Given the description of an element on the screen output the (x, y) to click on. 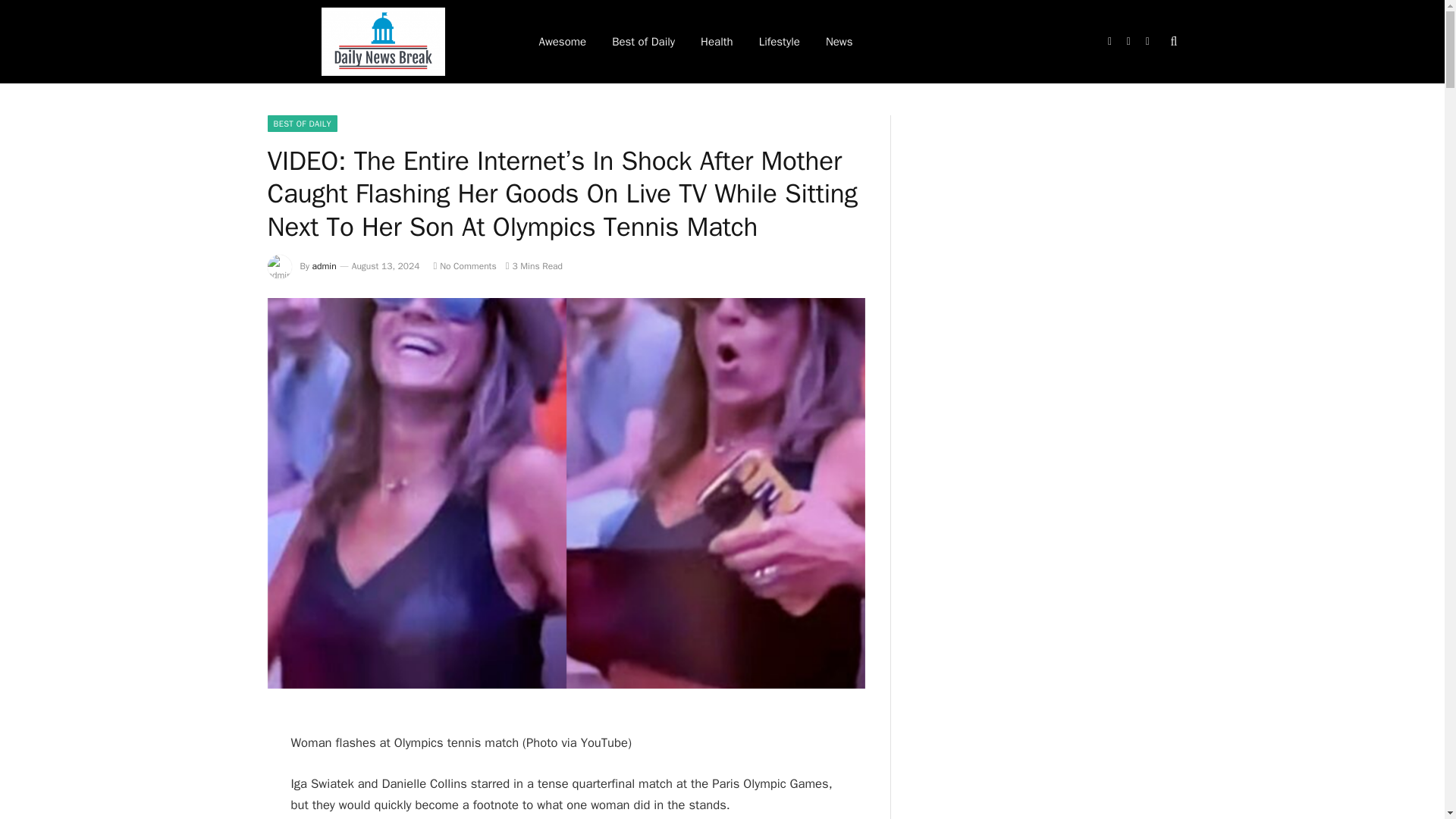
BEST OF DAILY (301, 123)
Posts by admin (324, 265)
DNB (382, 41)
Best of Daily (642, 41)
No Comments (464, 265)
admin (324, 265)
